Given the description of an element on the screen output the (x, y) to click on. 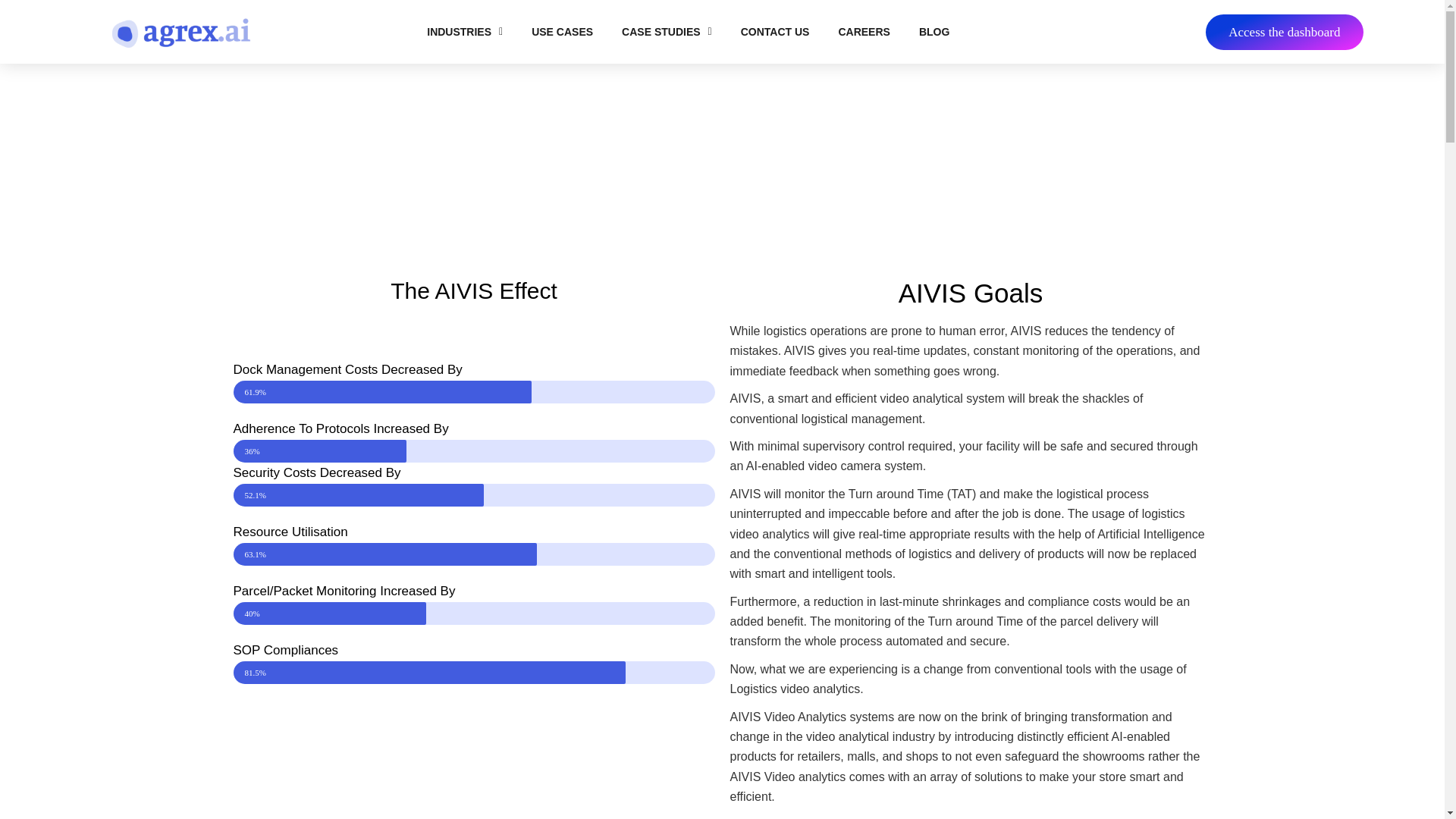
BLOG (933, 31)
CASE STUDIES (666, 31)
USE CASES (561, 31)
INDUSTRIES (464, 31)
CONTACT US (775, 31)
CAREERS (864, 31)
